Given the description of an element on the screen output the (x, y) to click on. 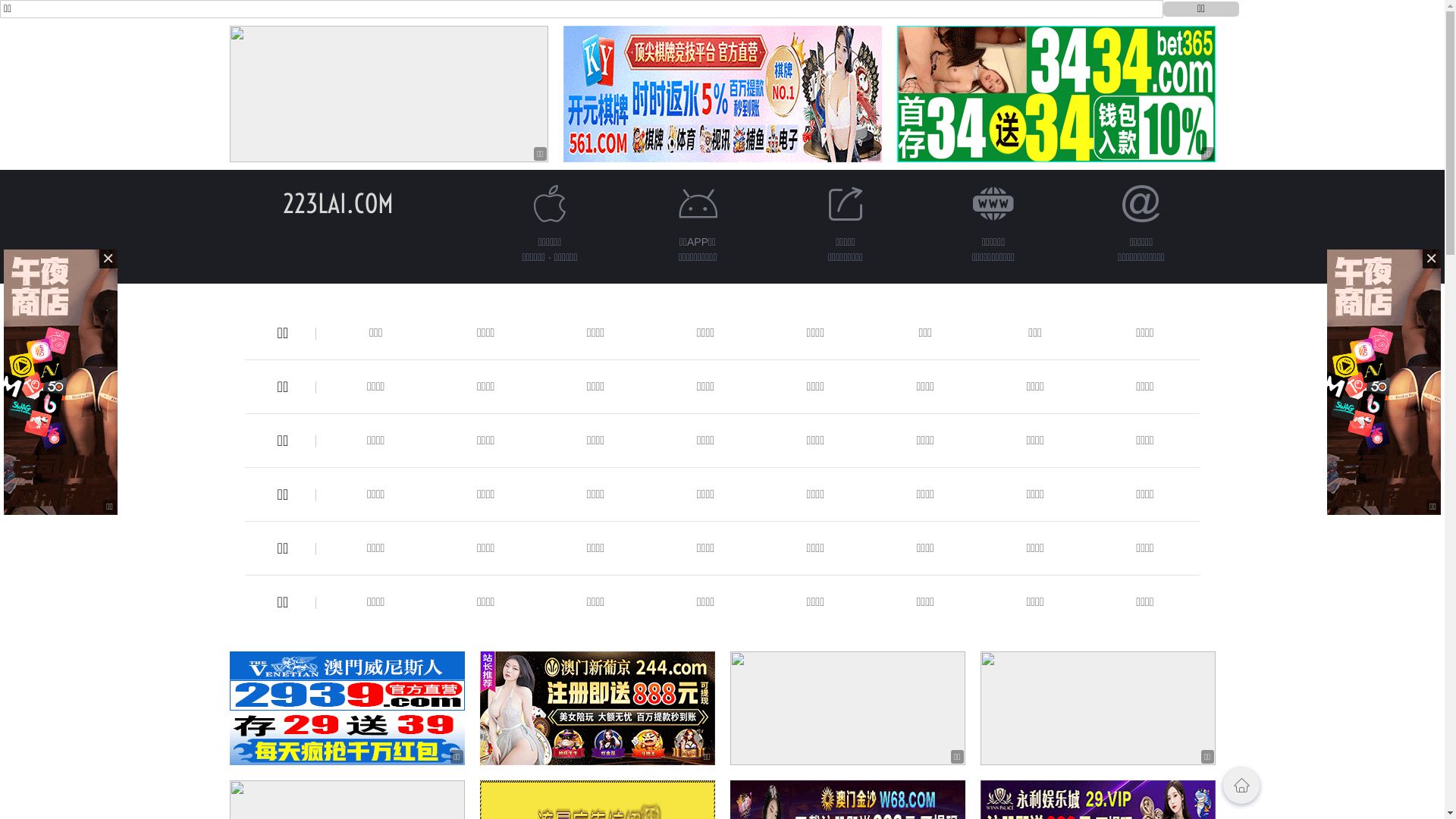
223LAI.COM Element type: text (337, 203)
